Given the description of an element on the screen output the (x, y) to click on. 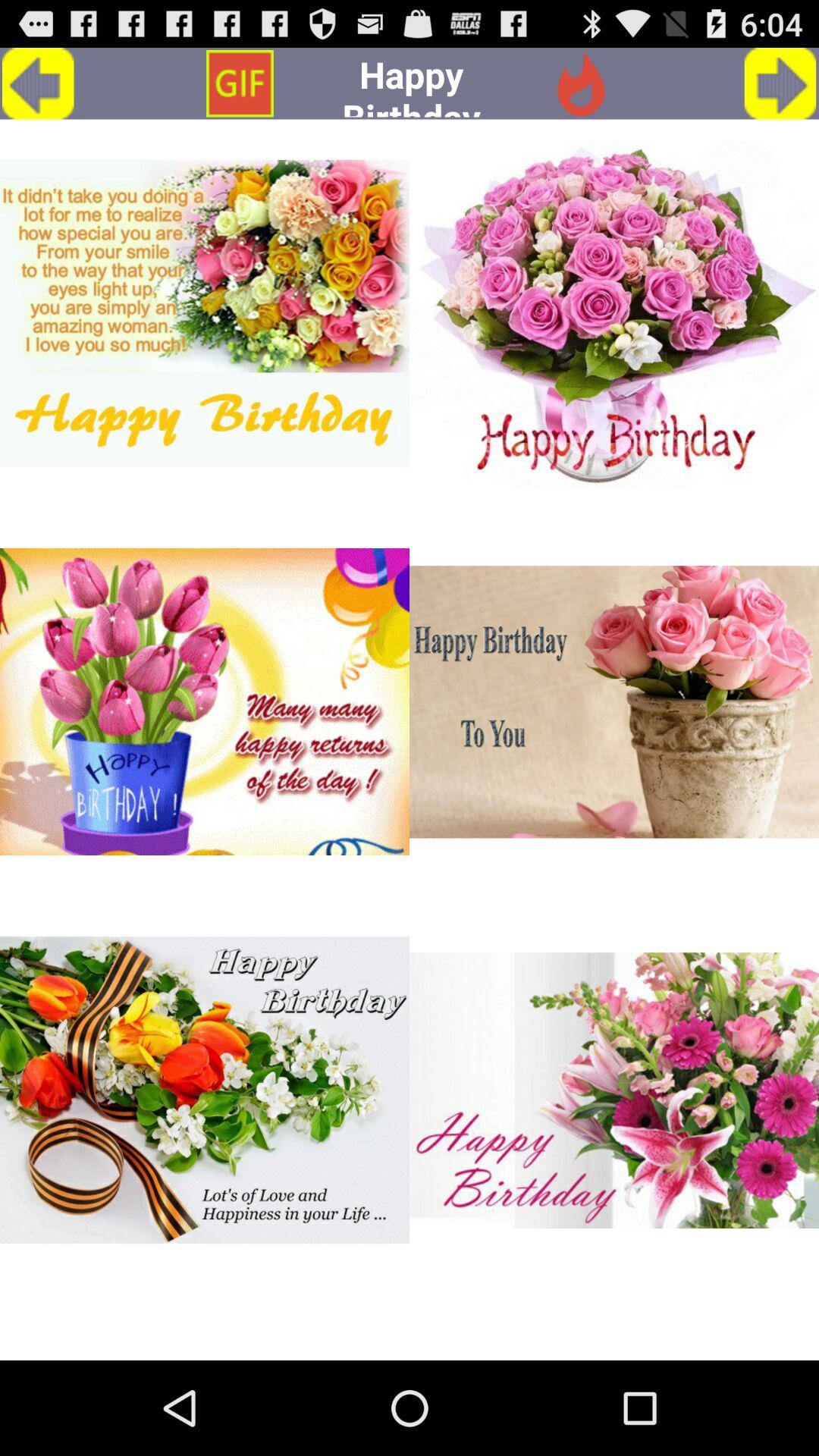
go next (780, 83)
